Given the description of an element on the screen output the (x, y) to click on. 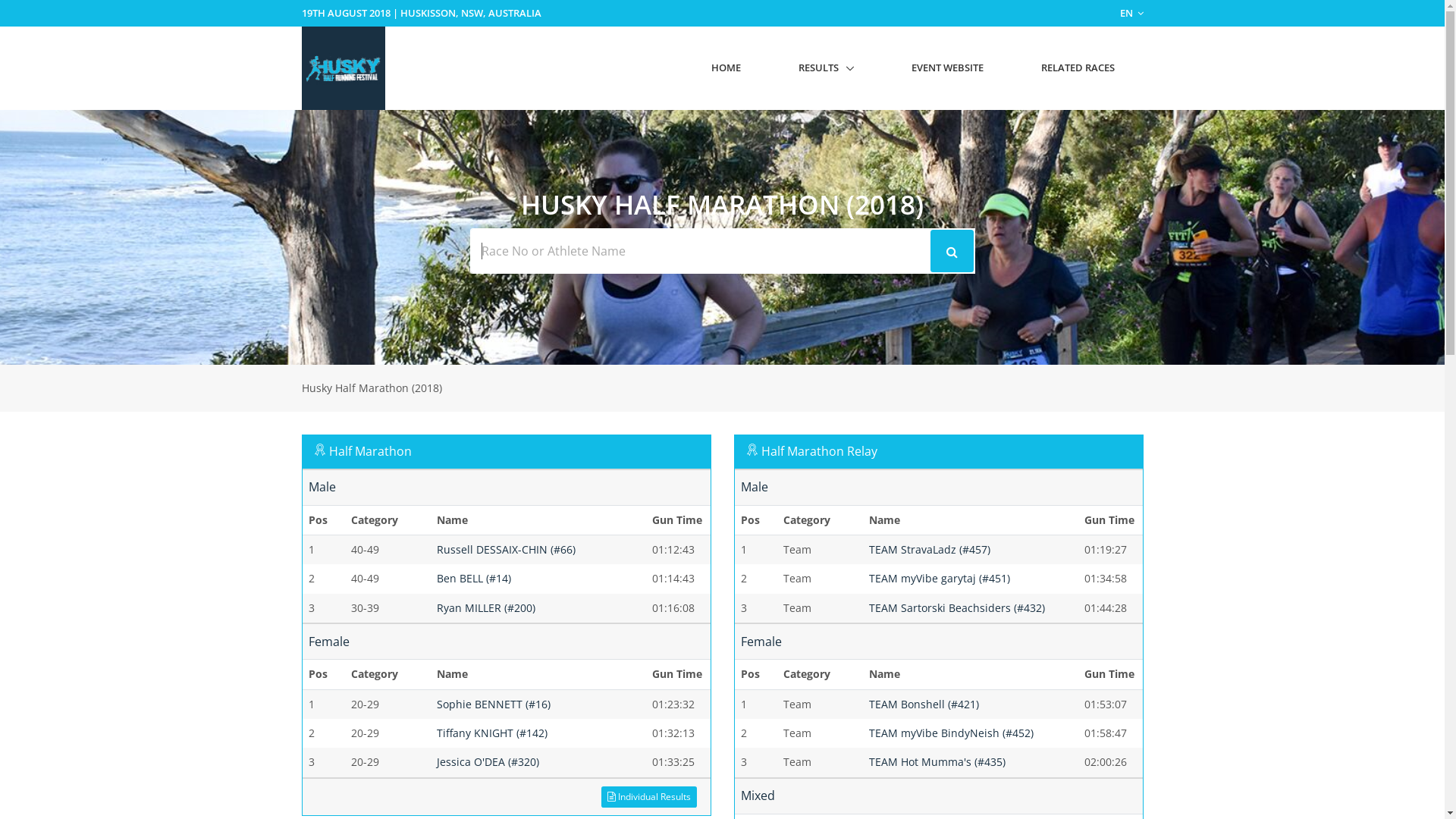
Half Marathon Element type: text (370, 450)
Russell DESSAIX-CHIN (#66) Element type: text (505, 549)
TEAM myVibe BindyNeish (#452) Element type: text (951, 732)
TEAM Bonshell (#421) Element type: text (924, 703)
Female Element type: text (327, 641)
Individual Results Element type: text (648, 796)
TEAM myVibe garytaj (#451) Element type: text (939, 578)
Sophie BENNETT (#16) Element type: text (493, 703)
RELATED RACES Element type: text (1076, 67)
TEAM Sartorski Beachsiders (#432) Element type: text (956, 607)
Ryan MILLER (#200) Element type: text (485, 607)
Ben BELL (#14) Element type: text (473, 578)
EVENT WEBSITE Element type: text (947, 67)
Mixed Element type: text (757, 795)
Male Element type: text (753, 486)
Female Element type: text (760, 641)
Tiffany KNIGHT (#142) Element type: text (491, 732)
Jessica O'DEA (#320) Element type: text (487, 761)
TEAM StravaLadz (#457) Element type: text (929, 549)
HOME Element type: text (725, 67)
Half Marathon Relay Element type: text (819, 450)
RESULTS Element type: text (824, 67)
EN Element type: text (1130, 12)
TEAM Hot Mumma's (#435) Element type: text (937, 761)
Male Element type: text (321, 486)
Husky Half Marathon (2018) Element type: text (371, 387)
